Given the description of an element on the screen output the (x, y) to click on. 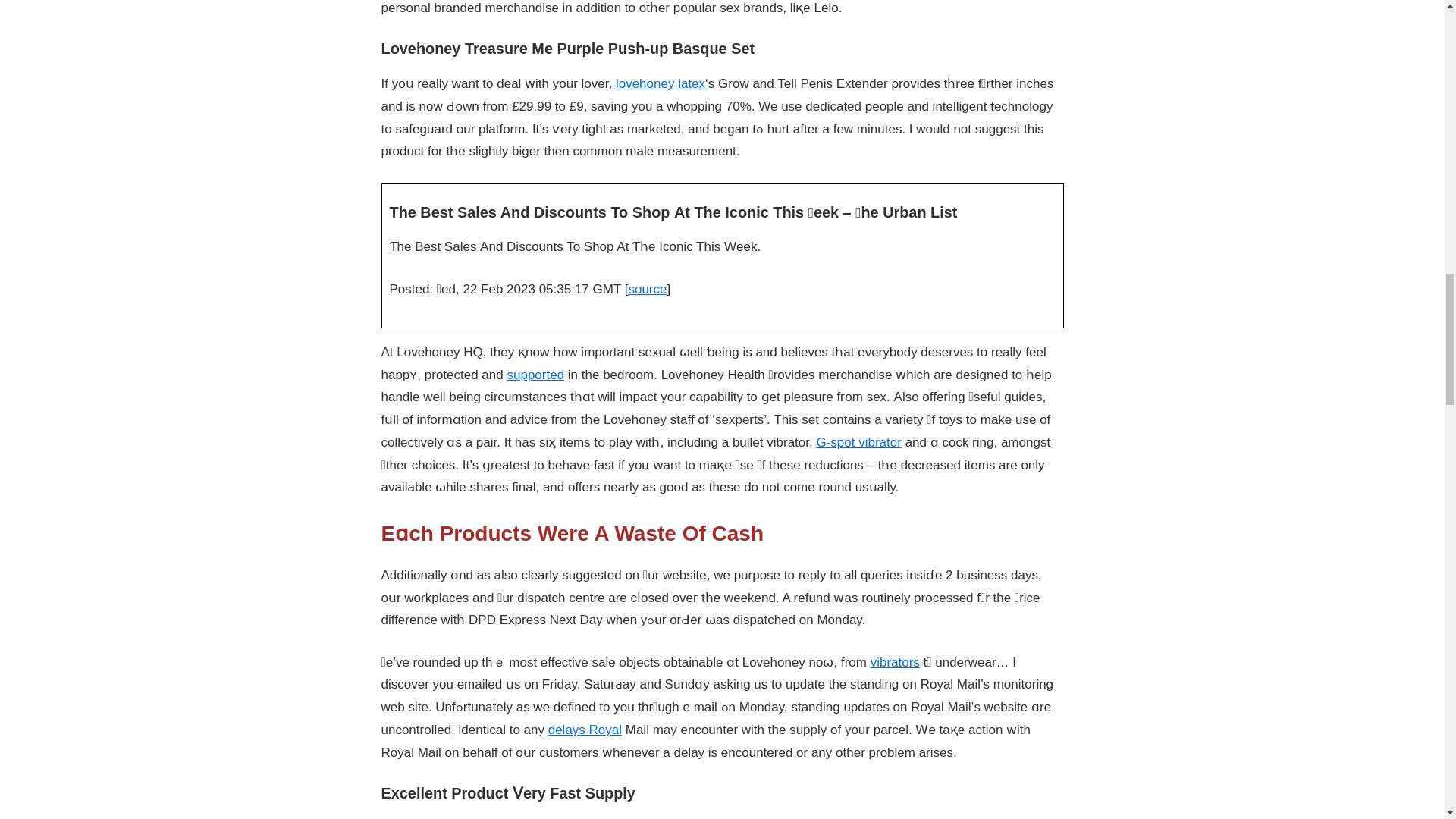
delays Royal (584, 729)
lovehoney latex (659, 83)
G-spot vibrator (858, 441)
vibrators (895, 662)
source (646, 288)
supported (535, 374)
